Given the description of an element on the screen output the (x, y) to click on. 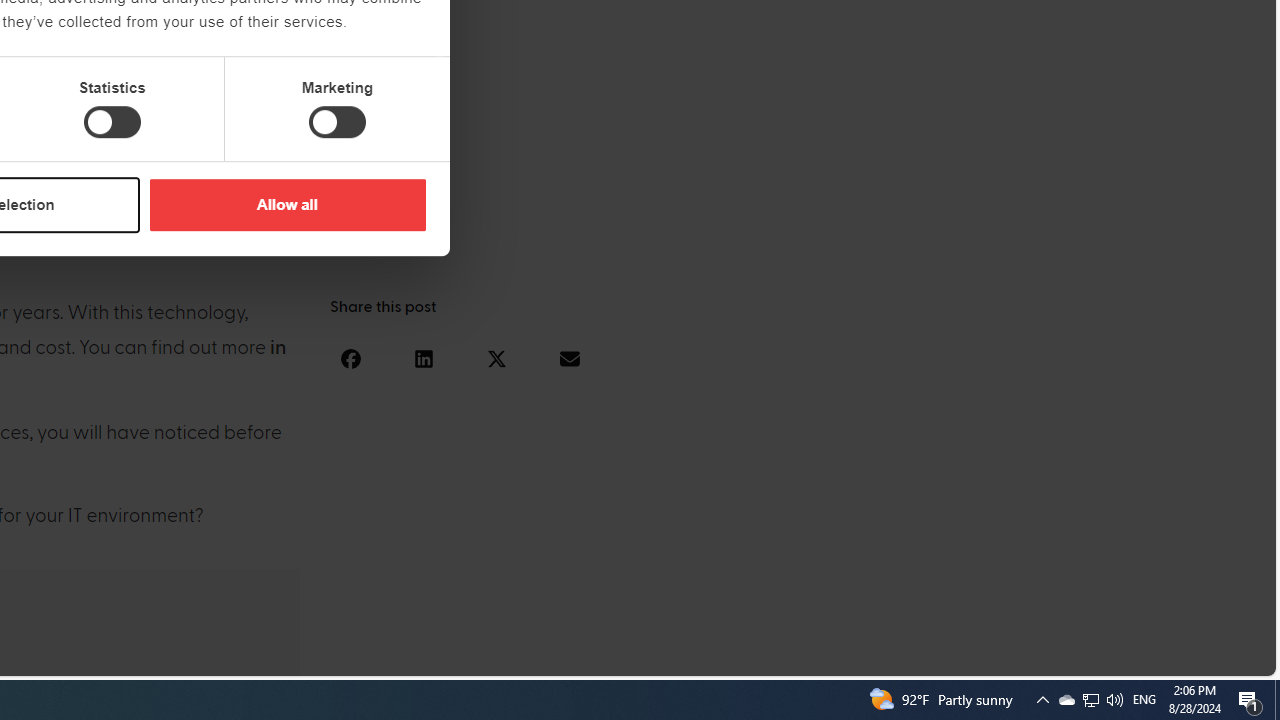
Language switcher : Croatian (1045, 657)
Language switcher : Dutch (965, 657)
Marketing (337, 121)
Language switcher : Greek (1145, 657)
Share on facebook (350, 358)
Statistics (111, 121)
Share on email (569, 358)
Language switcher : German (885, 657)
Language switcher : Polish (1005, 657)
Language switcher : Romanian (1126, 657)
